Given the description of an element on the screen output the (x, y) to click on. 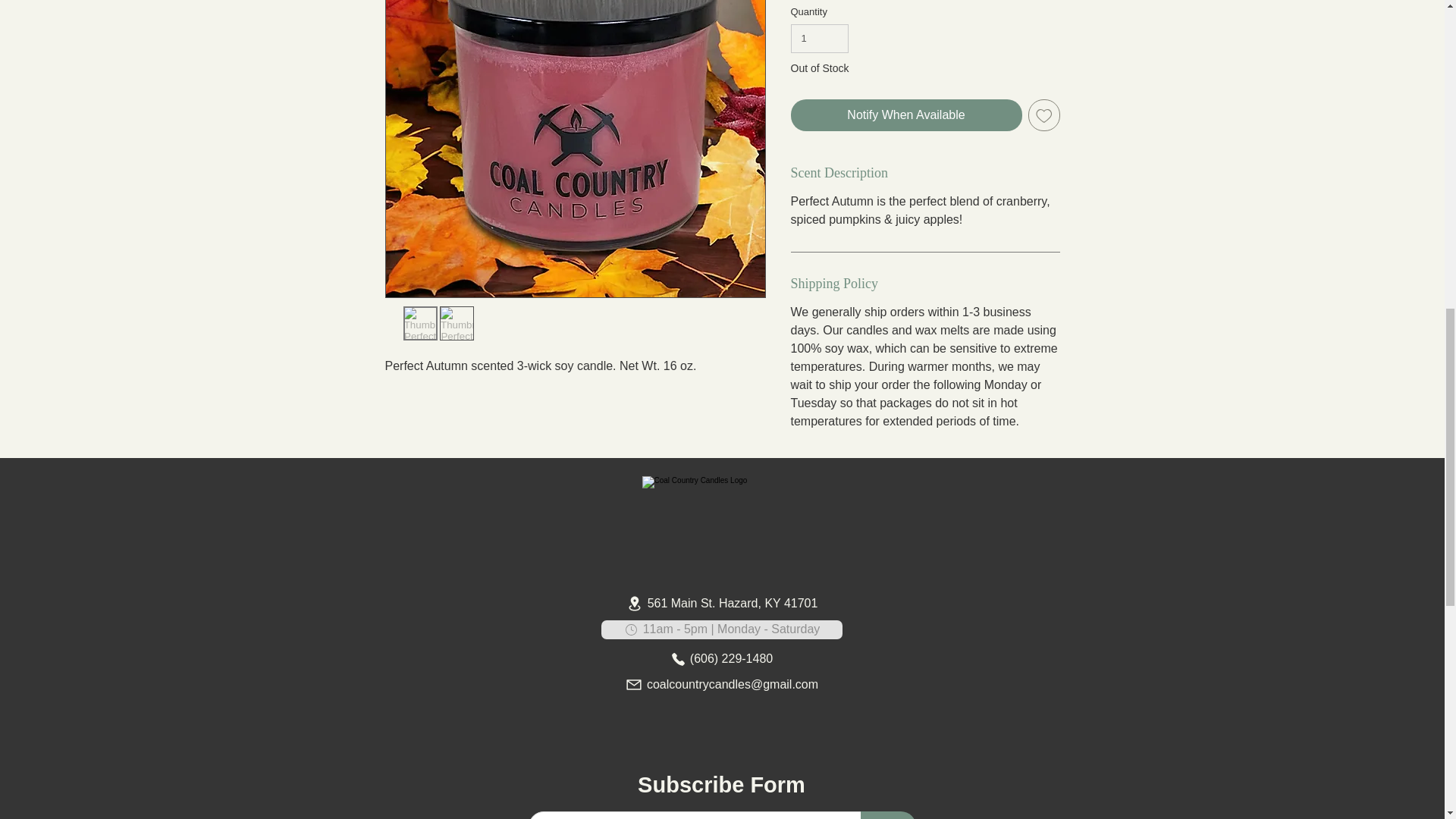
1 (818, 38)
